Given the description of an element on the screen output the (x, y) to click on. 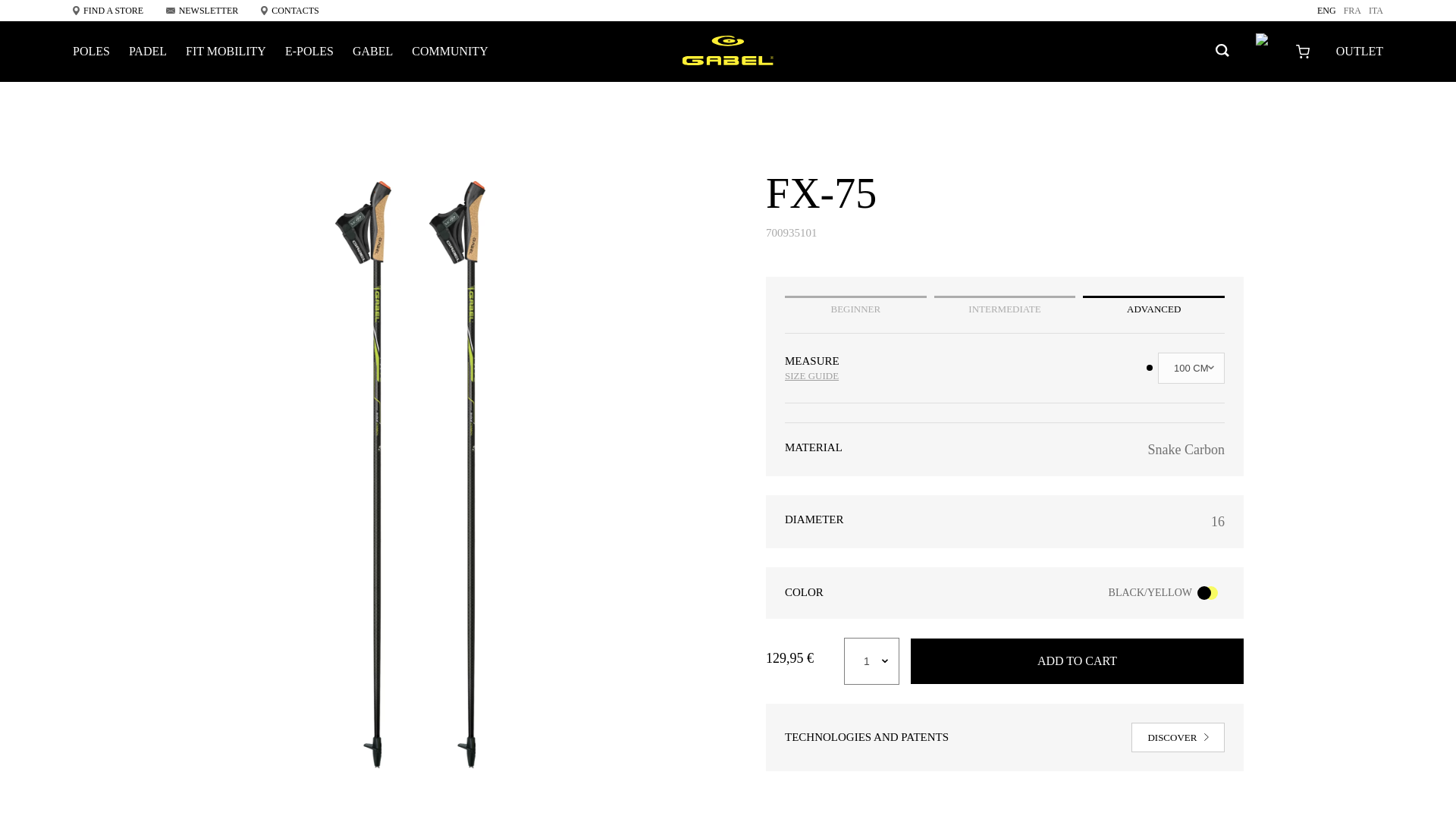
FIND A STORE (107, 10)
OUTLET (1359, 51)
FRA (1352, 10)
ITA (1375, 10)
NEWSLETTER (201, 10)
ENG (1326, 10)
FIT MOBILITY (226, 51)
E-POLES (309, 51)
CONTACTS (289, 10)
PADEL (148, 51)
